Given the description of an element on the screen output the (x, y) to click on. 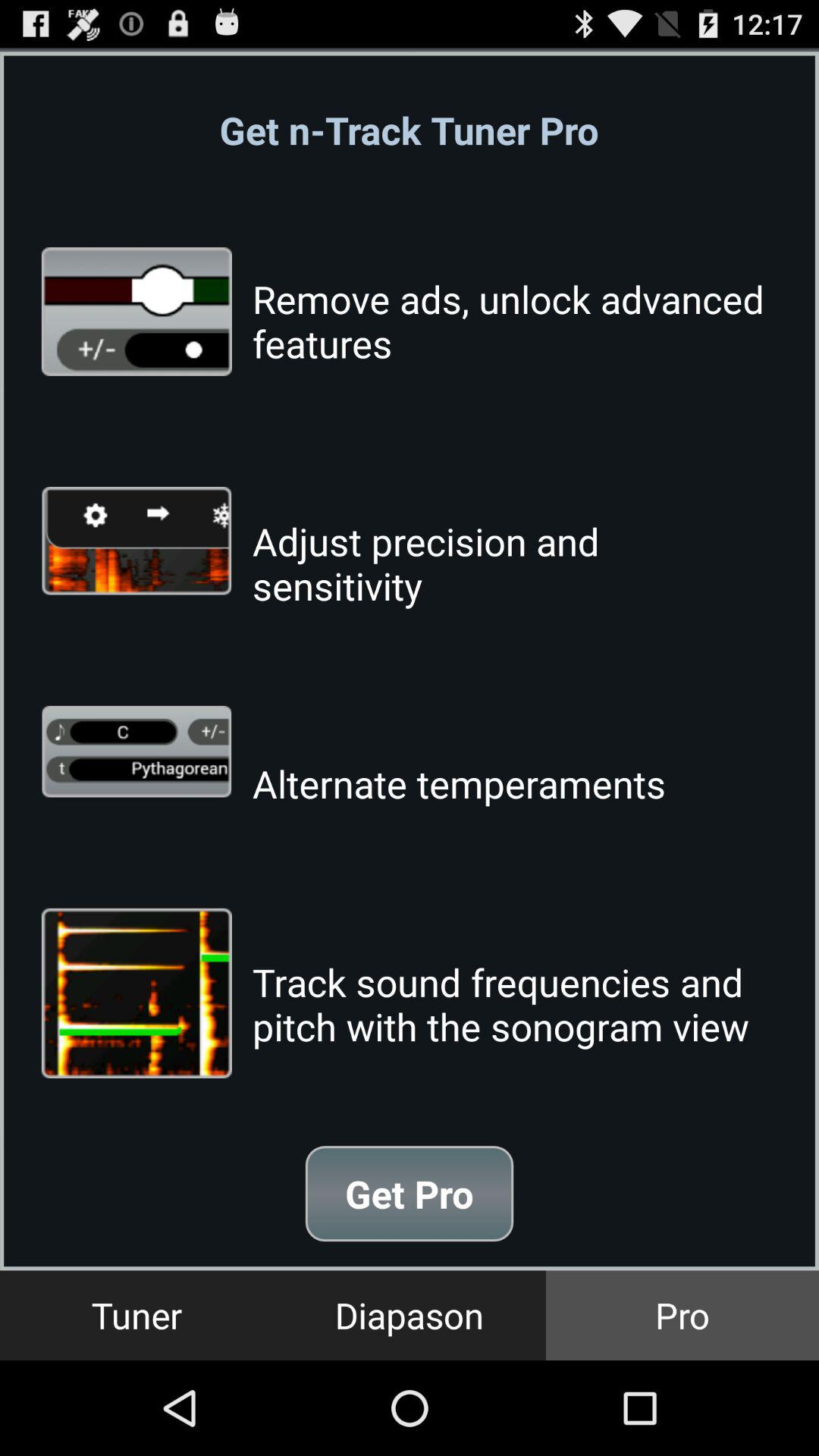
flip to get n track button (408, 130)
